Given the description of an element on the screen output the (x, y) to click on. 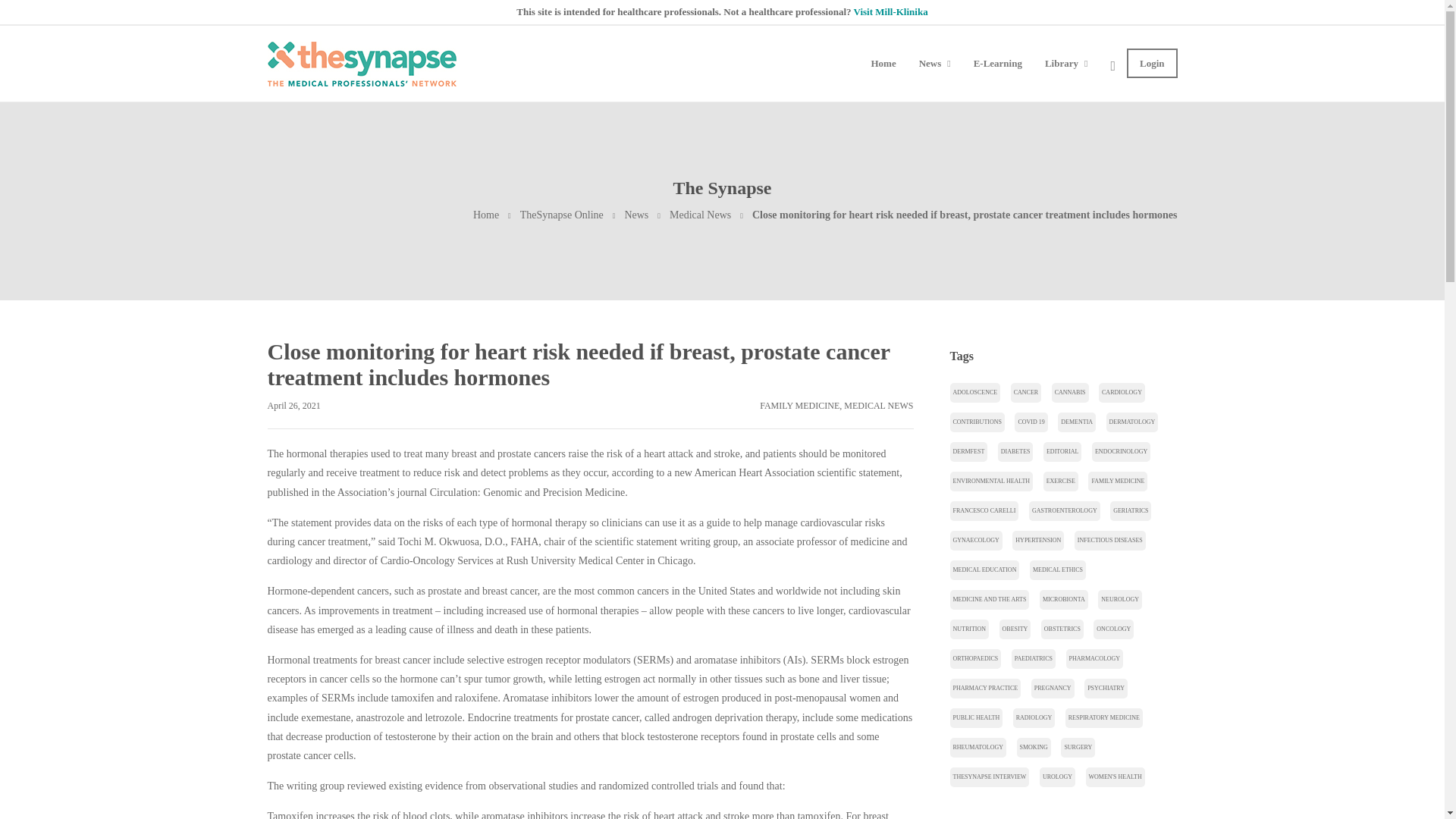
News (635, 214)
News (934, 63)
Home (882, 63)
TheSynapse Online (561, 214)
Medical News (699, 214)
Visit Mill-Klinika (890, 11)
Login (1151, 63)
MEDICAL NEWS (878, 405)
Library (1066, 63)
Home (486, 214)
Home (486, 214)
E-Learning (998, 63)
FAMILY MEDICINE (800, 405)
